Given the description of an element on the screen output the (x, y) to click on. 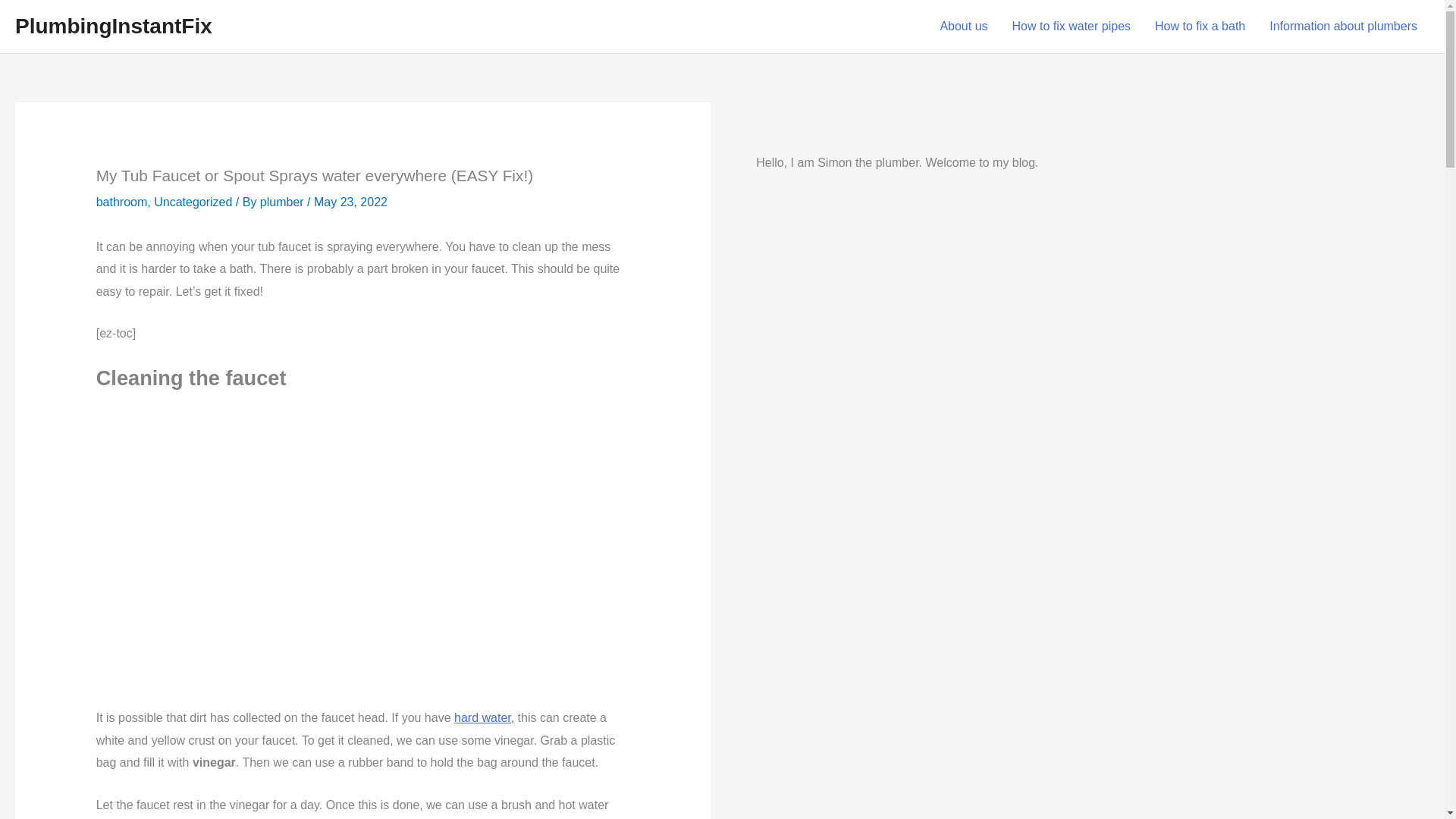
bathroom (122, 201)
About us (962, 26)
View all posts by plumber (282, 201)
Information about plumbers (1343, 26)
PlumbingInstantFix (113, 25)
How to fix water pipes (1071, 26)
Uncategorized (192, 201)
How to fix a bath (1199, 26)
hard water, (483, 717)
plumber (282, 201)
